Given the description of an element on the screen output the (x, y) to click on. 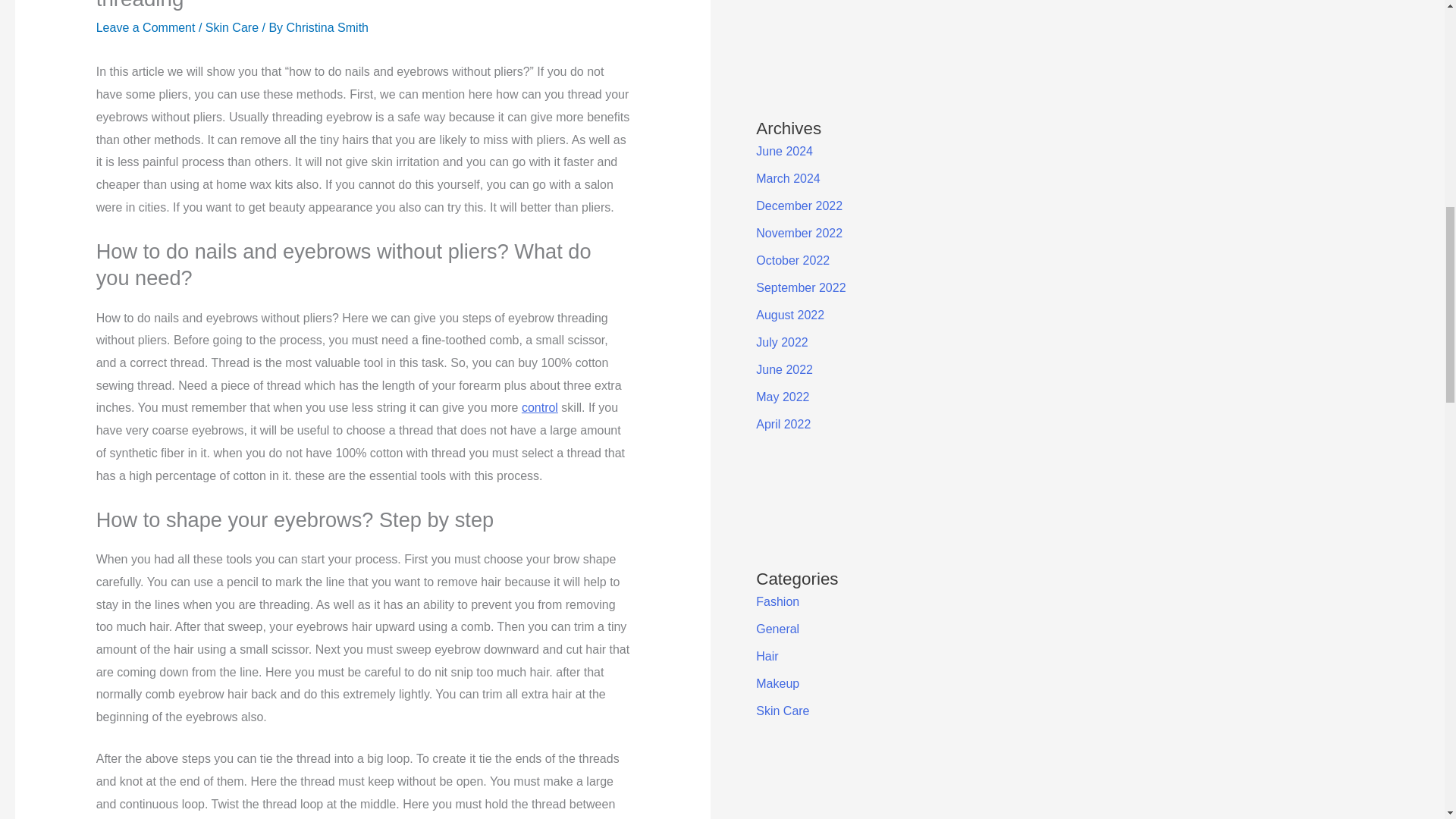
control (539, 407)
June 2024 (783, 151)
October 2022 (792, 259)
September 2022 (800, 287)
August 2022 (789, 314)
Skin Care (232, 27)
November 2022 (799, 232)
Christina Smith (327, 27)
View all posts by Christina Smith (327, 27)
Leave a Comment (145, 27)
July 2022 (781, 341)
December 2022 (799, 205)
March 2024 (788, 178)
